Given the description of an element on the screen output the (x, y) to click on. 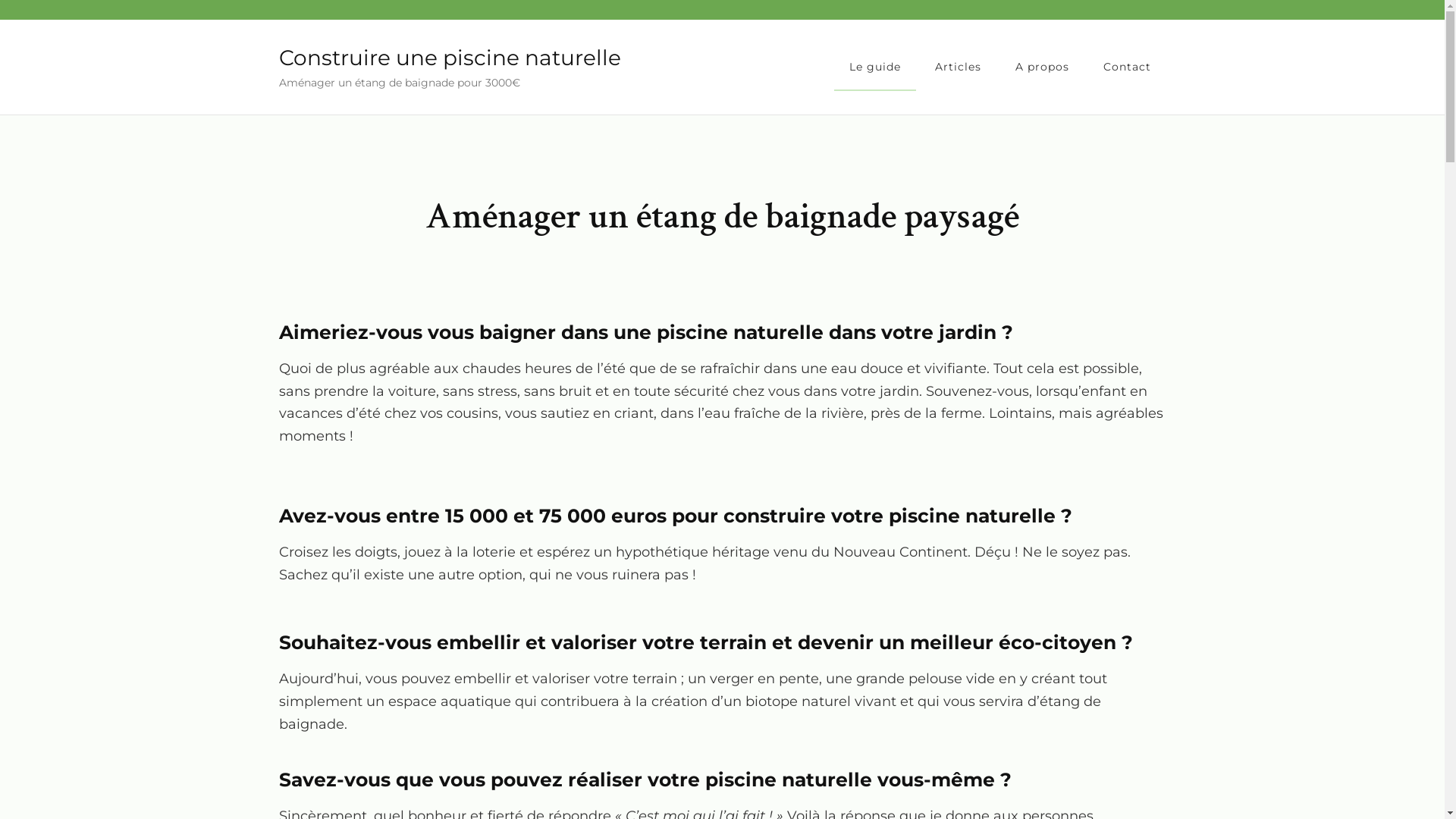
A propos Element type: text (1041, 67)
Contact Element type: text (1126, 67)
Articles Element type: text (957, 67)
Le guide Element type: text (875, 67)
Construire une piscine naturelle Element type: text (450, 57)
